Given the description of an element on the screen output the (x, y) to click on. 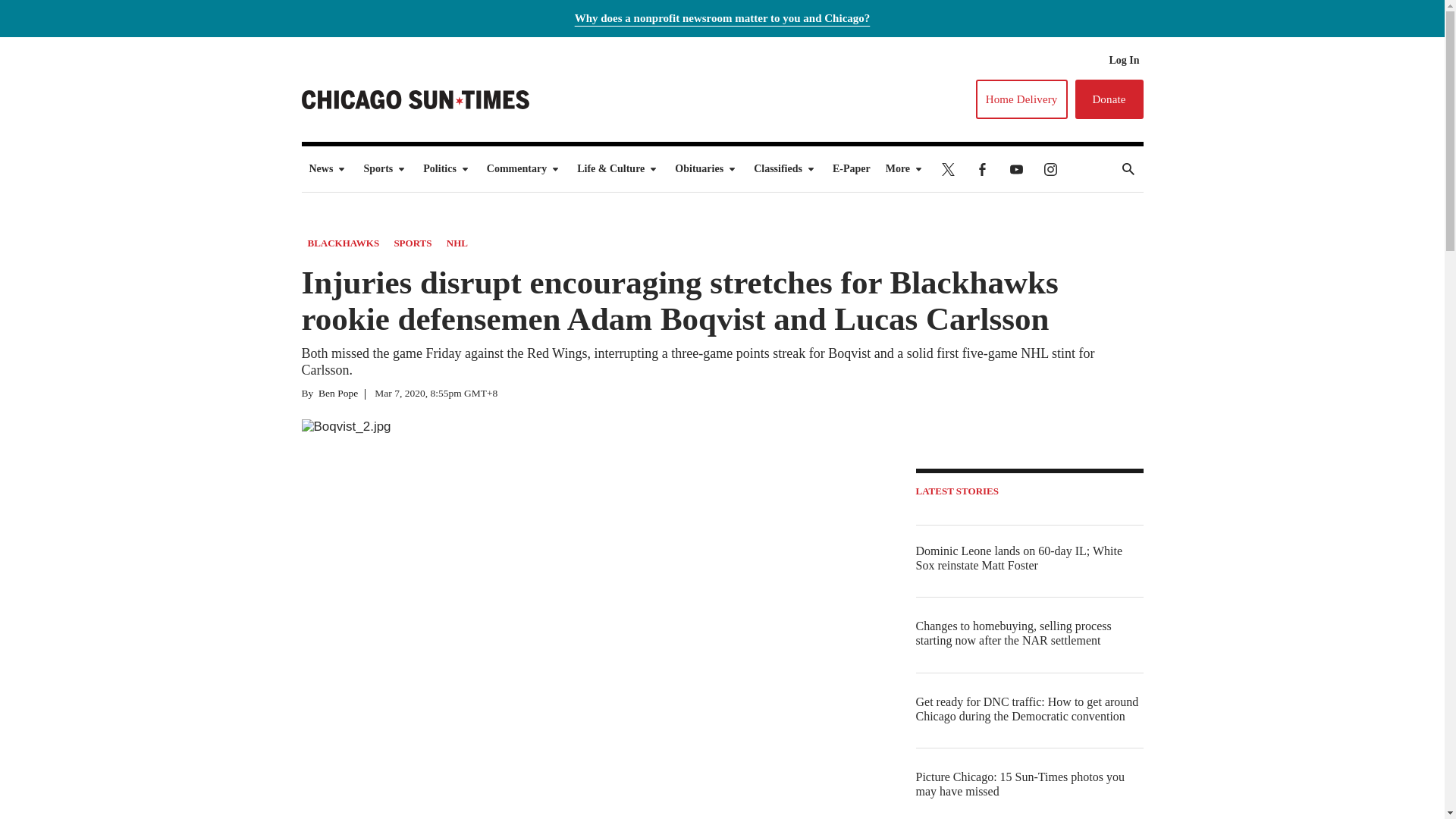
Log In (1123, 60)
Donate (1108, 98)
Home Delivery (1021, 98)
Why does a nonprofit newsroom matter to you and Chicago? (722, 18)
